Given the description of an element on the screen output the (x, y) to click on. 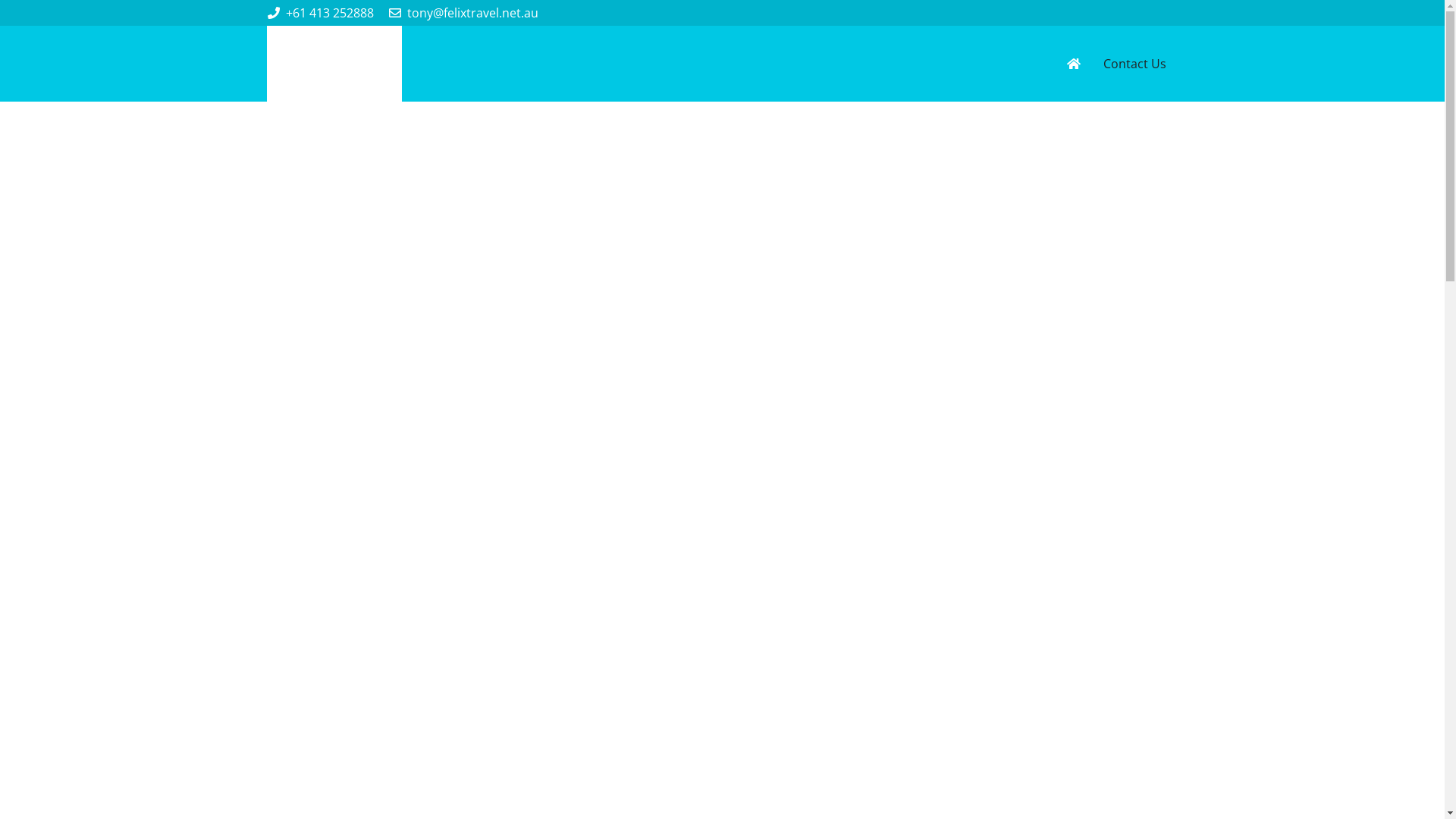
tony@felixtravel.net.au Element type: text (462, 12)
+61 413 252888 Element type: text (319, 12)
Contact Us Element type: text (1134, 63)
